Given the description of an element on the screen output the (x, y) to click on. 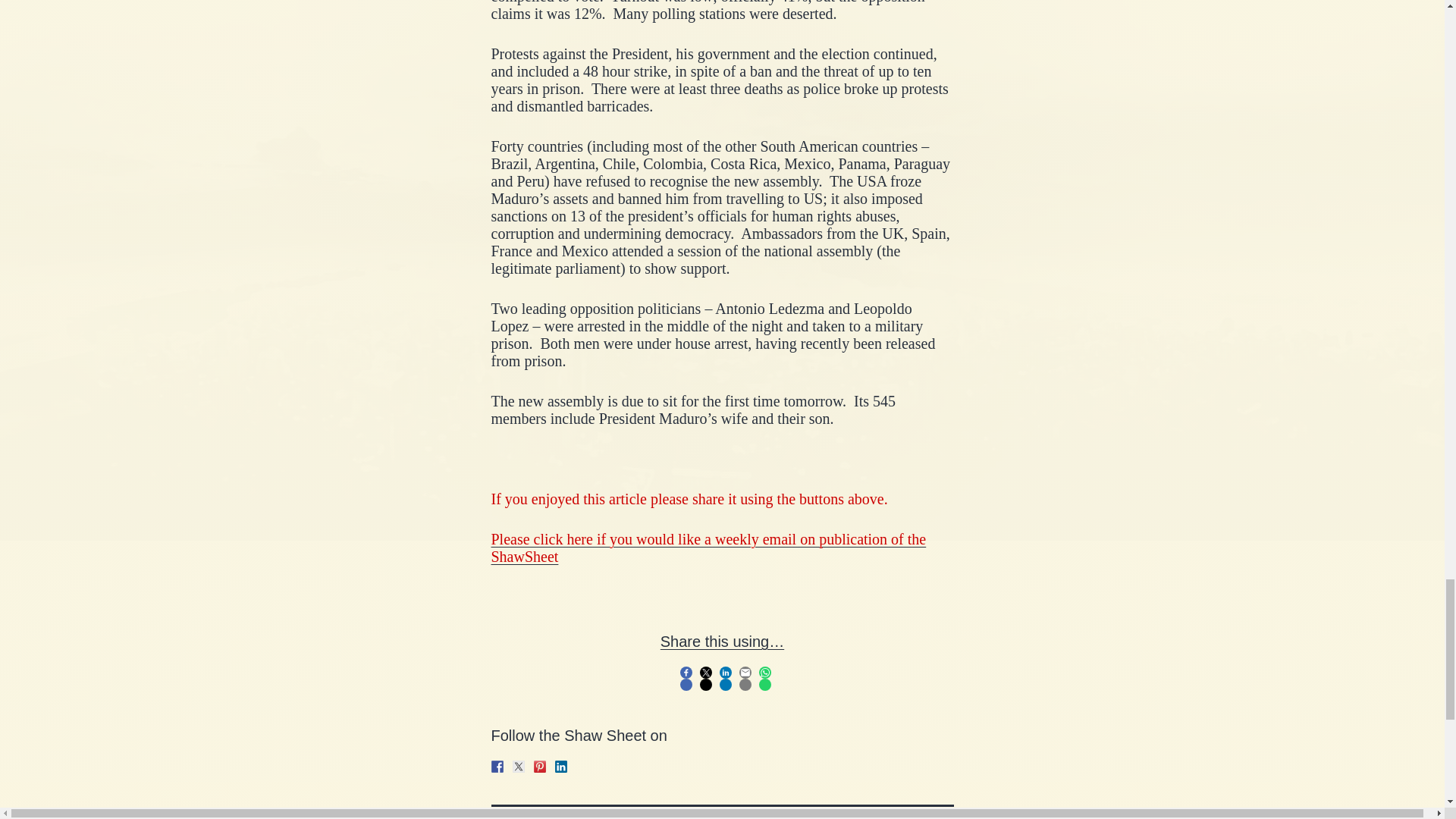
Follow us on Facebook (497, 766)
Find us on Linkedin (560, 766)
Follow us on Twitter (518, 766)
Shaw Sheet board on Pinterest (540, 766)
